Given the description of an element on the screen output the (x, y) to click on. 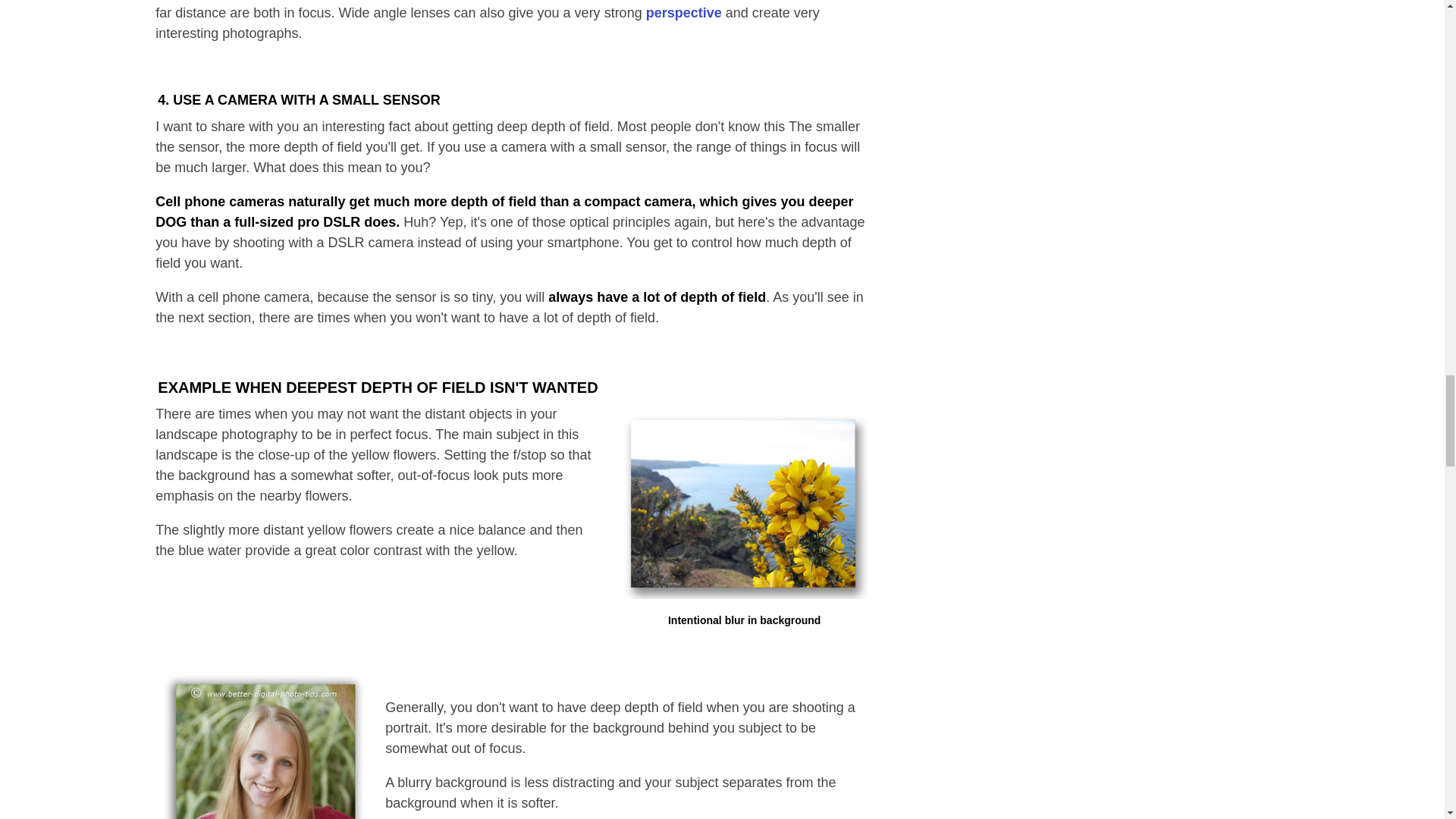
perspective (684, 12)
Deep depth of Field Example With Flowers (744, 503)
